Given the description of an element on the screen output the (x, y) to click on. 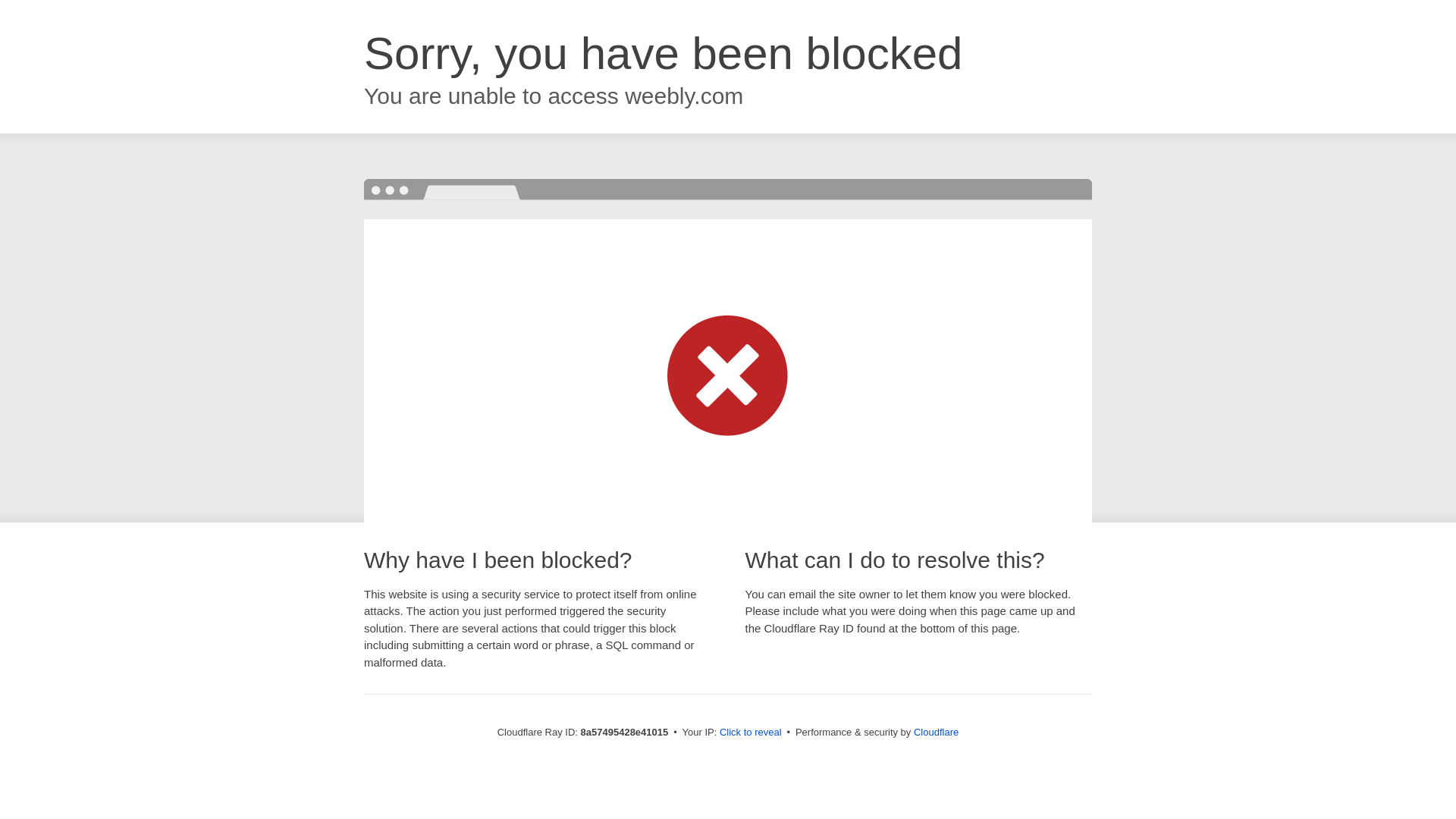
Cloudflare (936, 731)
Click to reveal (750, 732)
